Given the description of an element on the screen output the (x, y) to click on. 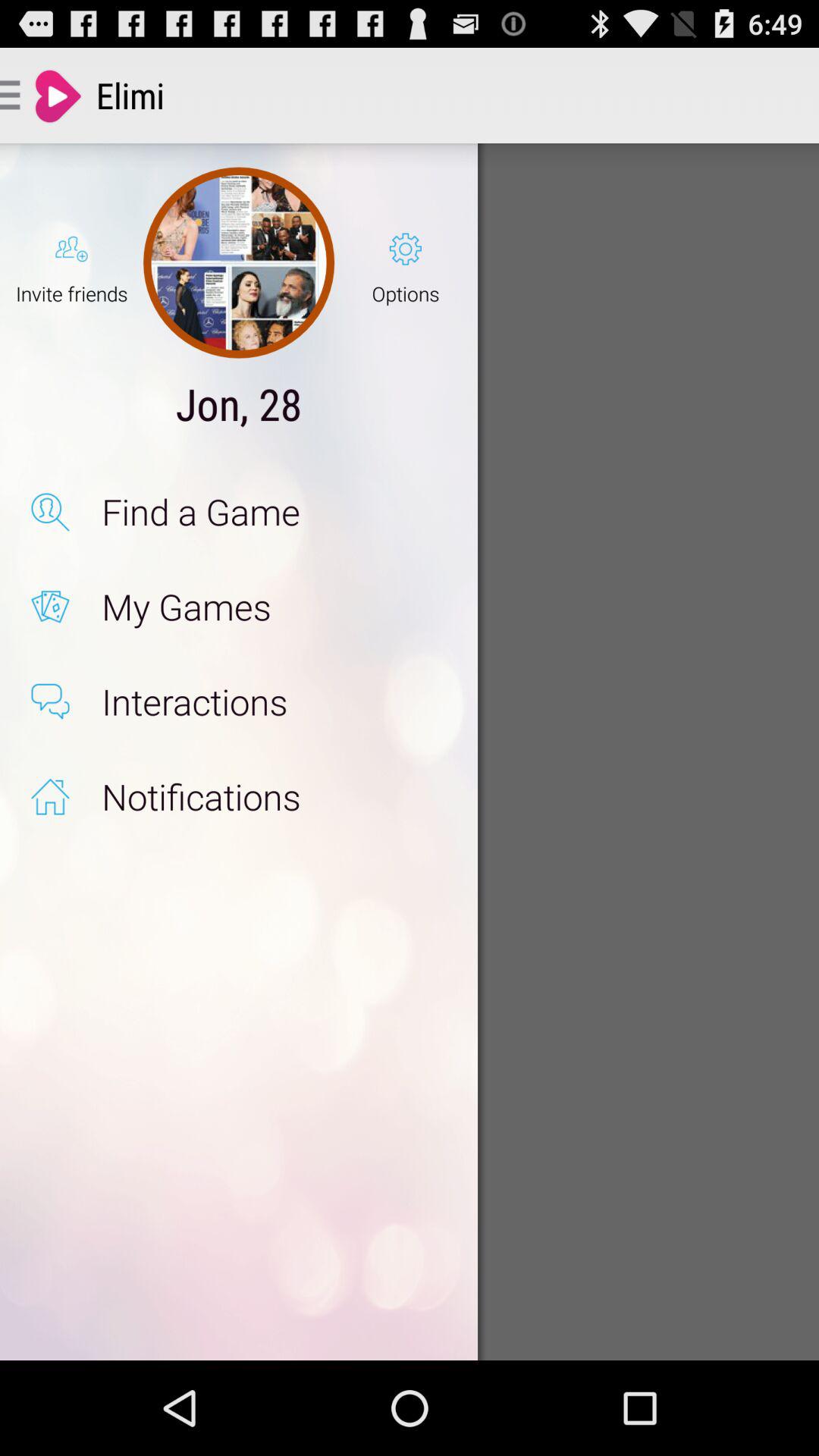
turn on the app below jon, 28 app (273, 511)
